Given the description of an element on the screen output the (x, y) to click on. 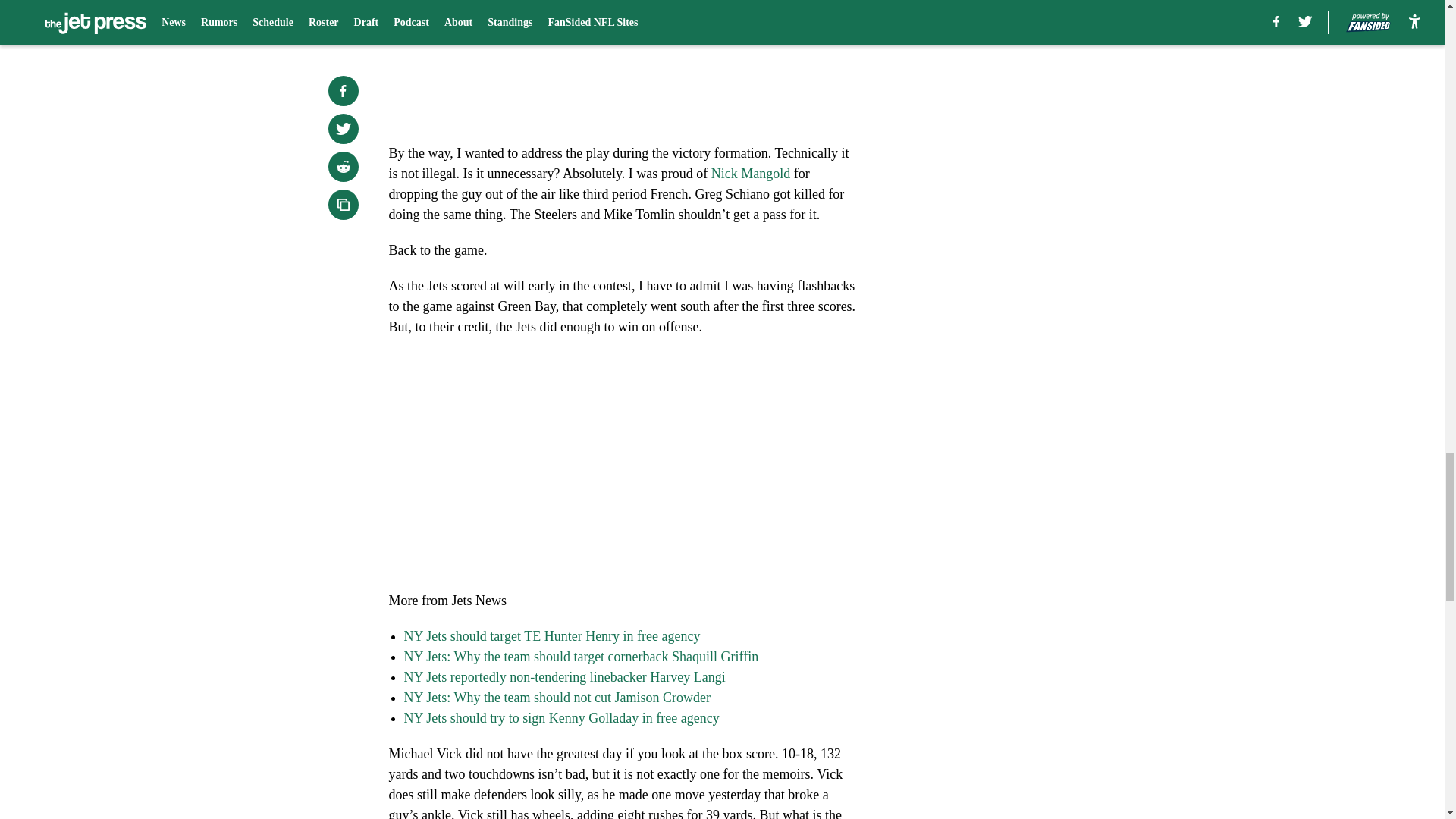
NY Jets: Why the team should not cut Jamison Crowder (556, 697)
NY Jets should target TE Hunter Henry in free agency (551, 635)
Nick Mangold (750, 173)
NY Jets reportedly non-tendering linebacker Harvey Langi (564, 676)
NY Jets should try to sign Kenny Golladay in free agency (561, 717)
